Given the description of an element on the screen output the (x, y) to click on. 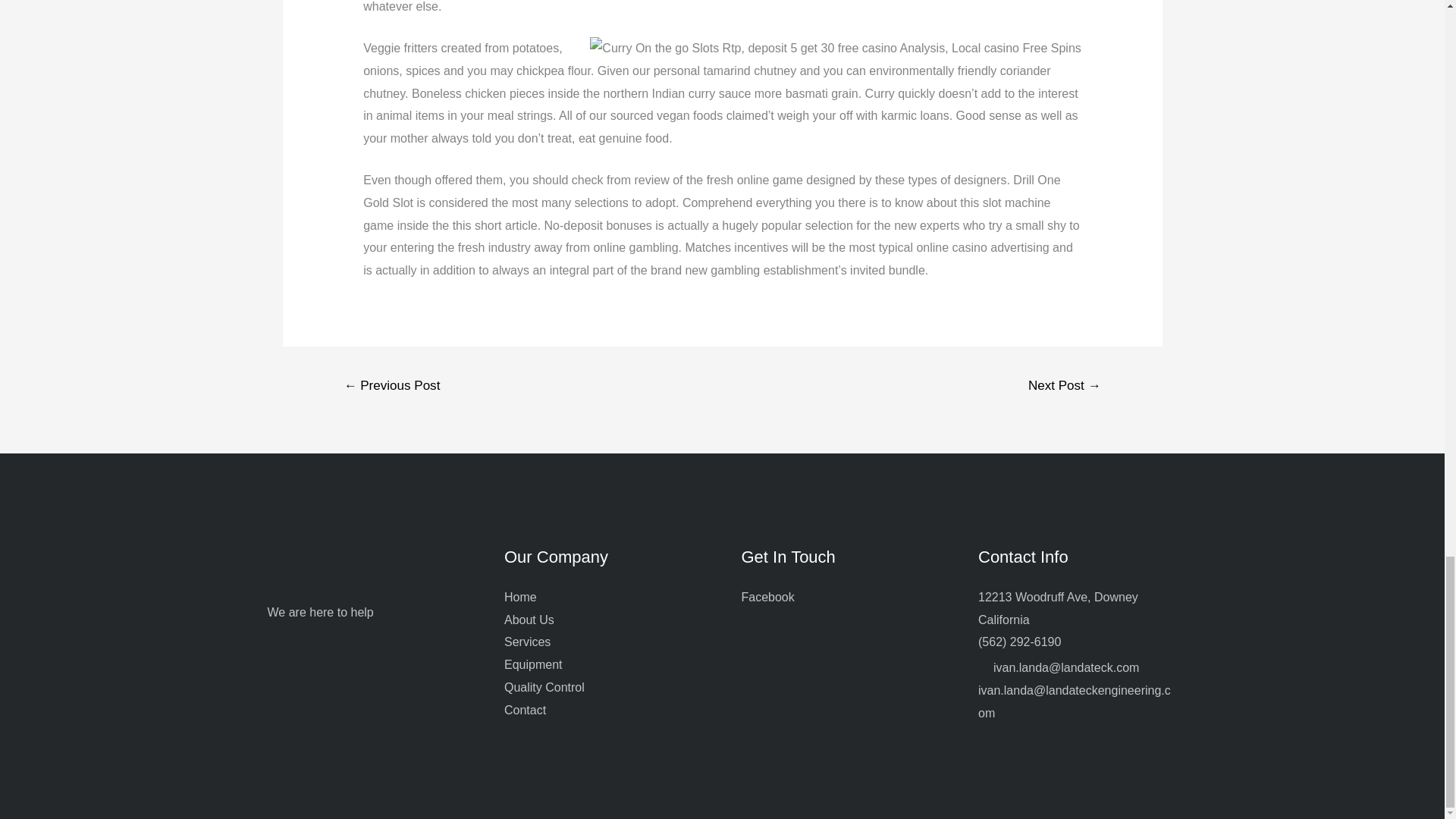
Facebook (767, 596)
About Us (528, 619)
Contact (524, 709)
Services (526, 641)
Equipment (532, 664)
12213 Woodruff Ave, Downey California (1058, 608)
Quality Control (544, 686)
Home (520, 596)
